Given the description of an element on the screen output the (x, y) to click on. 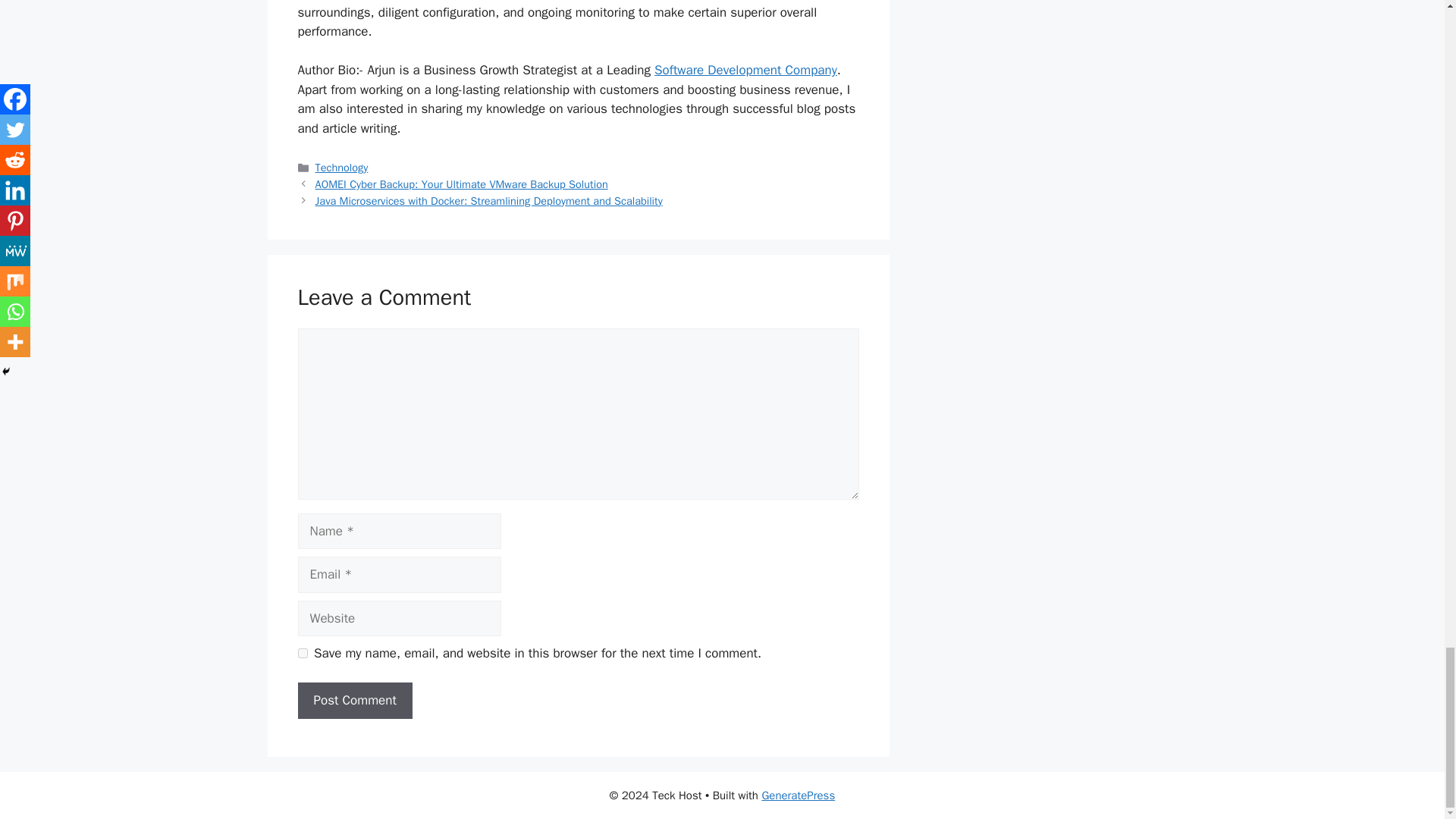
Post Comment (354, 700)
yes (302, 653)
Software Development Company (745, 69)
